Given the description of an element on the screen output the (x, y) to click on. 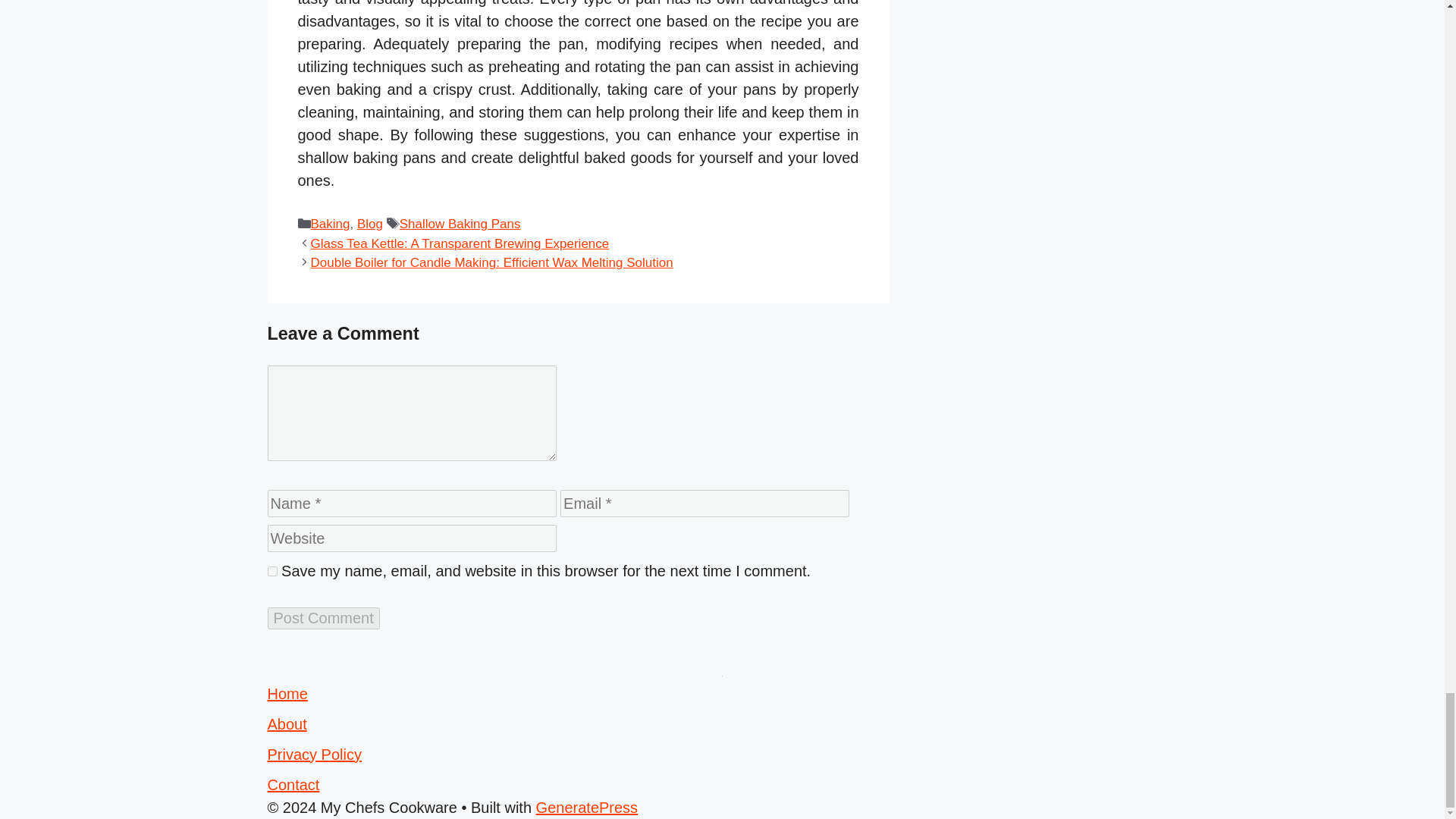
Post Comment (322, 618)
yes (271, 571)
Privacy Policy (313, 754)
Baking (330, 223)
Post Comment (322, 618)
Contact (292, 784)
About (285, 723)
Blog (369, 223)
GeneratePress (587, 807)
Home (286, 693)
Glass Tea Kettle: A Transparent Brewing Experience (460, 243)
Shallow Baking Pans (459, 223)
